Given the description of an element on the screen output the (x, y) to click on. 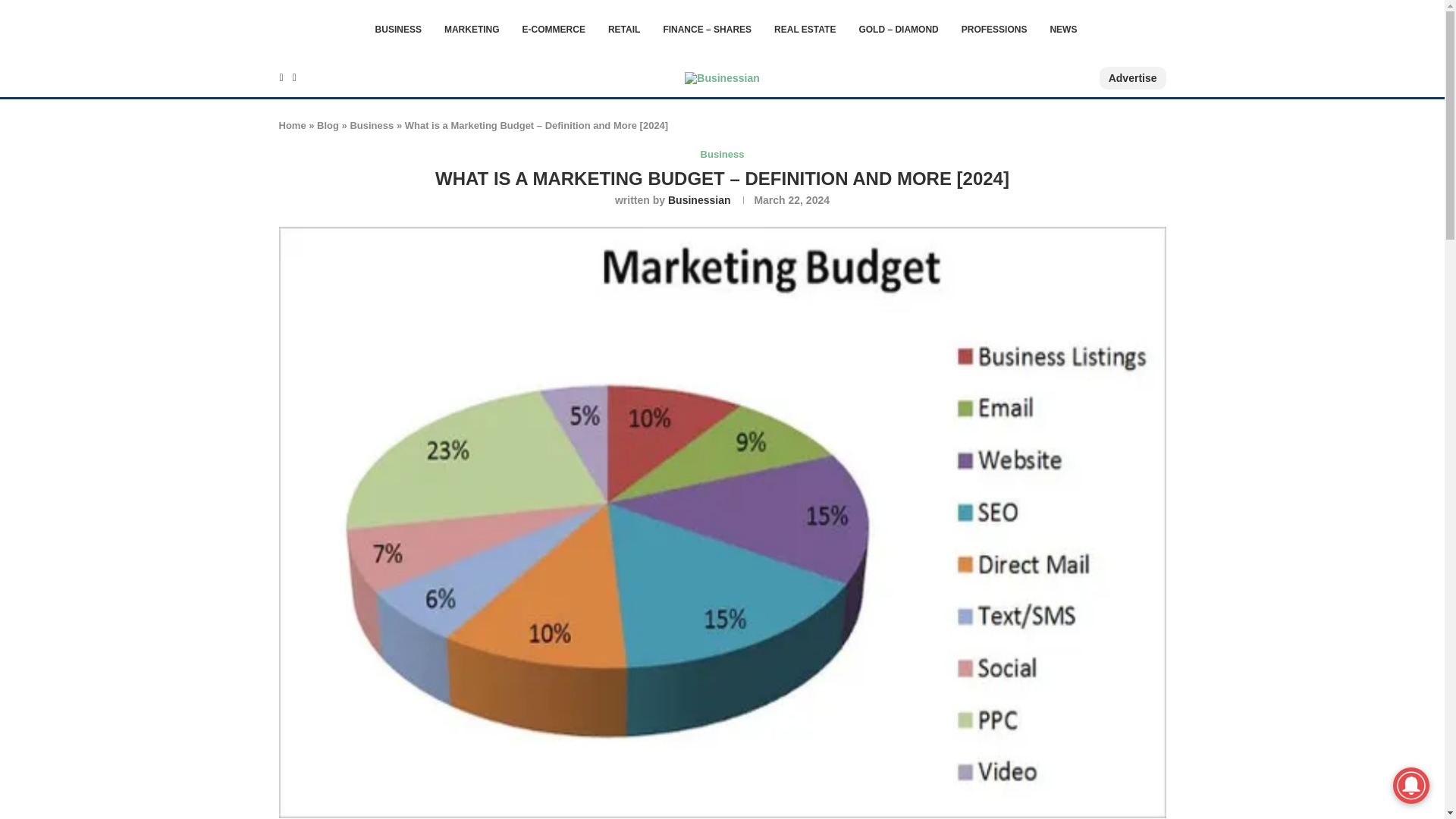
NEWS (1063, 29)
PROFESSIONS (993, 29)
E-COMMERCE (553, 29)
REAL ESTATE (804, 29)
MARKETING (471, 29)
RETAIL (624, 29)
Advertise (1132, 77)
BUSINESS (398, 29)
